Given the description of an element on the screen output the (x, y) to click on. 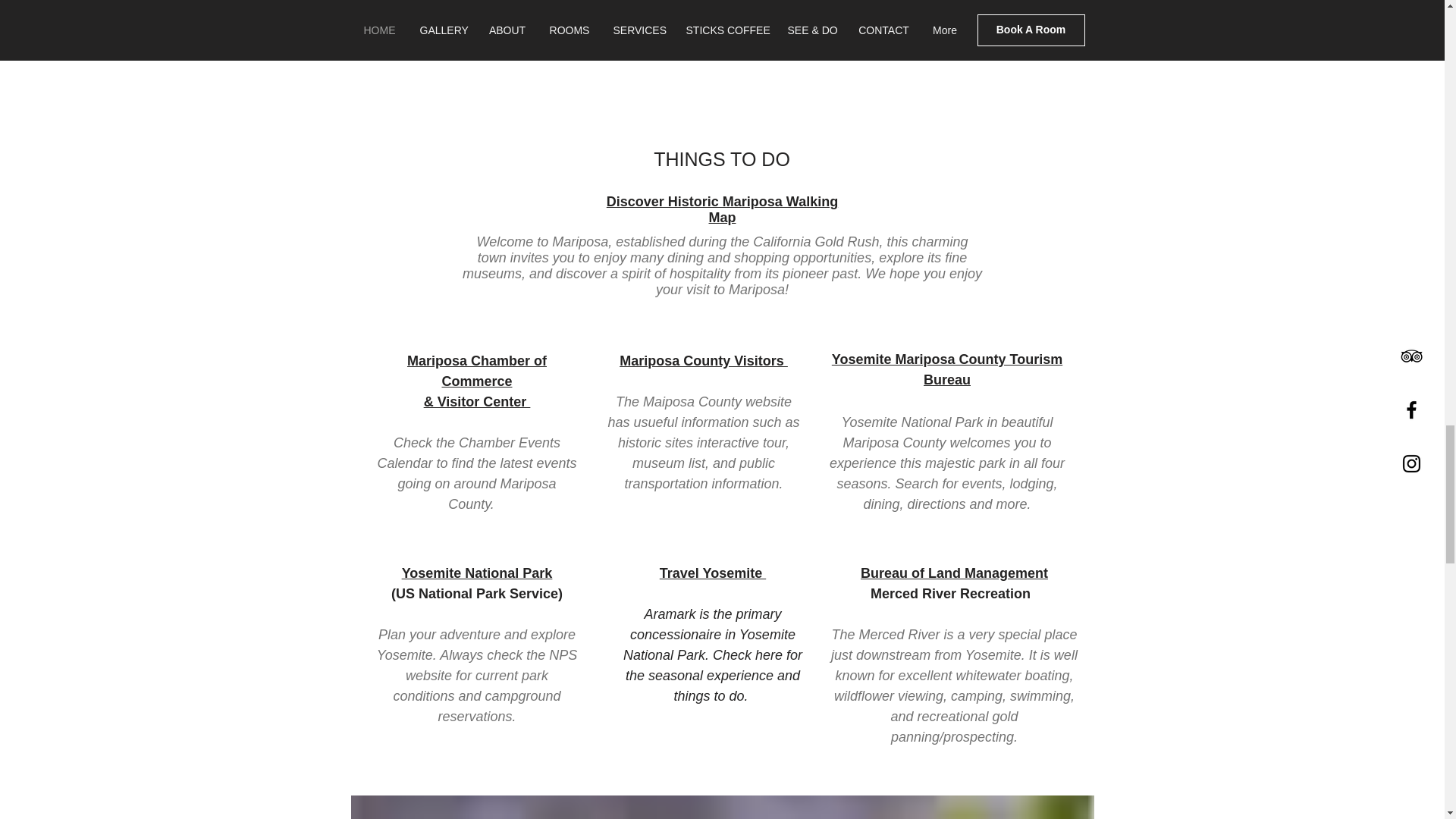
Bureau of Land Management (954, 572)
Mariposa County Visitors  (703, 360)
Travel Yosemite  (712, 572)
Discover Historic Mariposa Walking Map (722, 209)
Yosemite National Park (477, 572)
Yosemite Mariposa County Tourism Bureau (946, 369)
Mariposa Chamber of Commerce (477, 370)
